Given the description of an element on the screen output the (x, y) to click on. 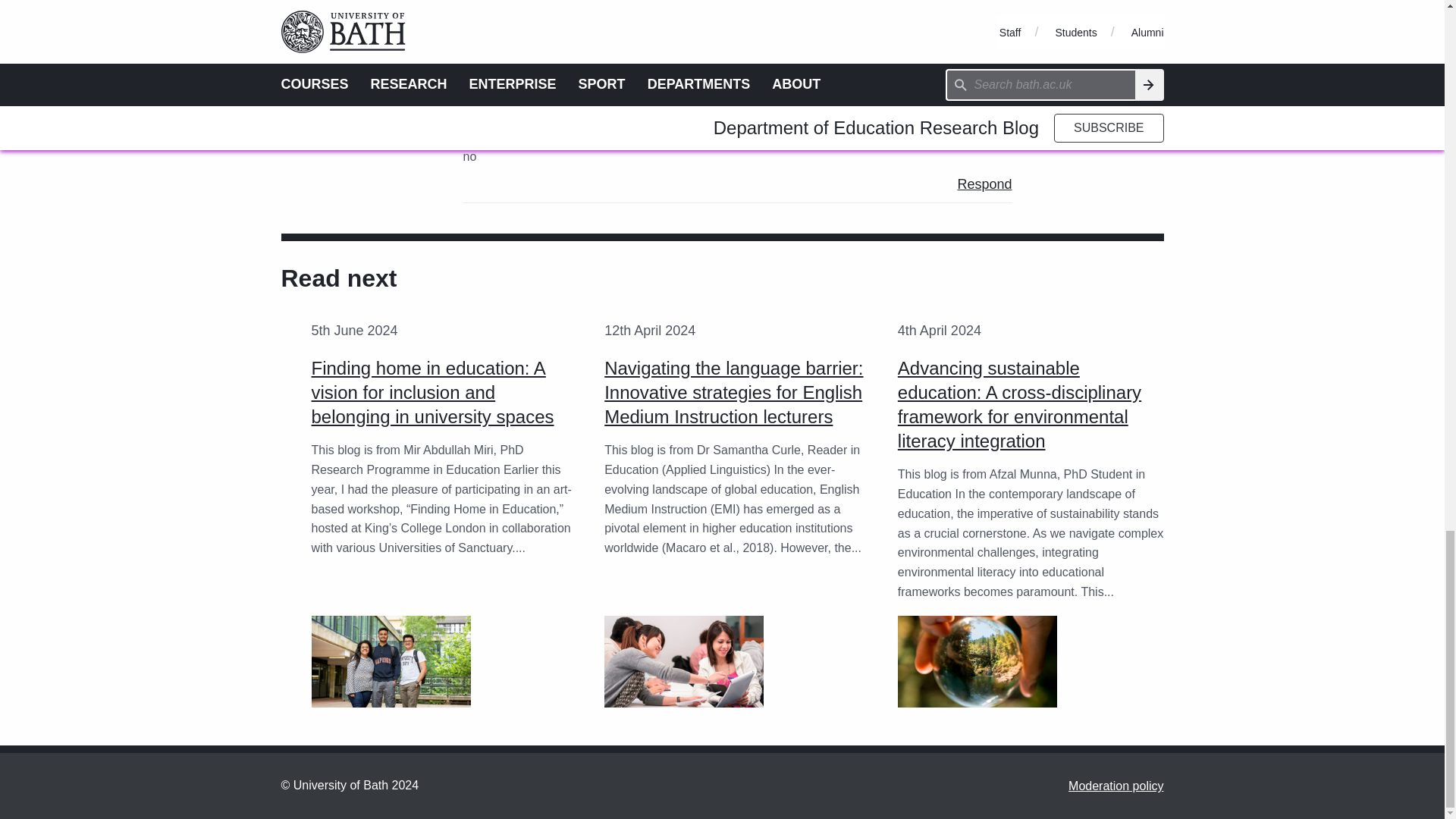
Post (960, 13)
Post (960, 13)
Respond (983, 183)
CANCEL (875, 12)
